Given the description of an element on the screen output the (x, y) to click on. 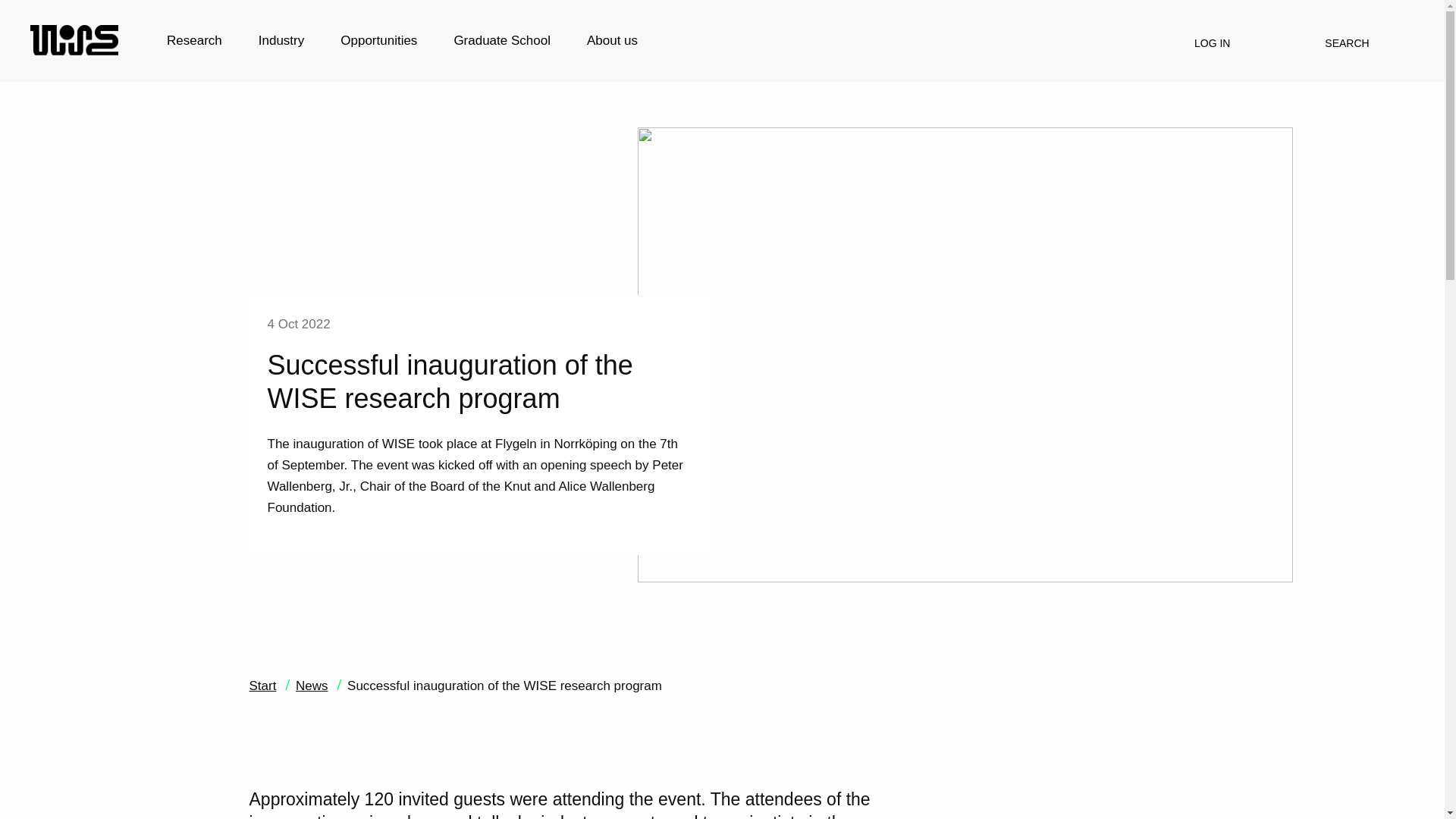
SEARCH (1352, 42)
Opportunities (378, 38)
About us (612, 38)
Graduate School (502, 38)
Industry (280, 38)
Research (194, 38)
